Given the description of an element on the screen output the (x, y) to click on. 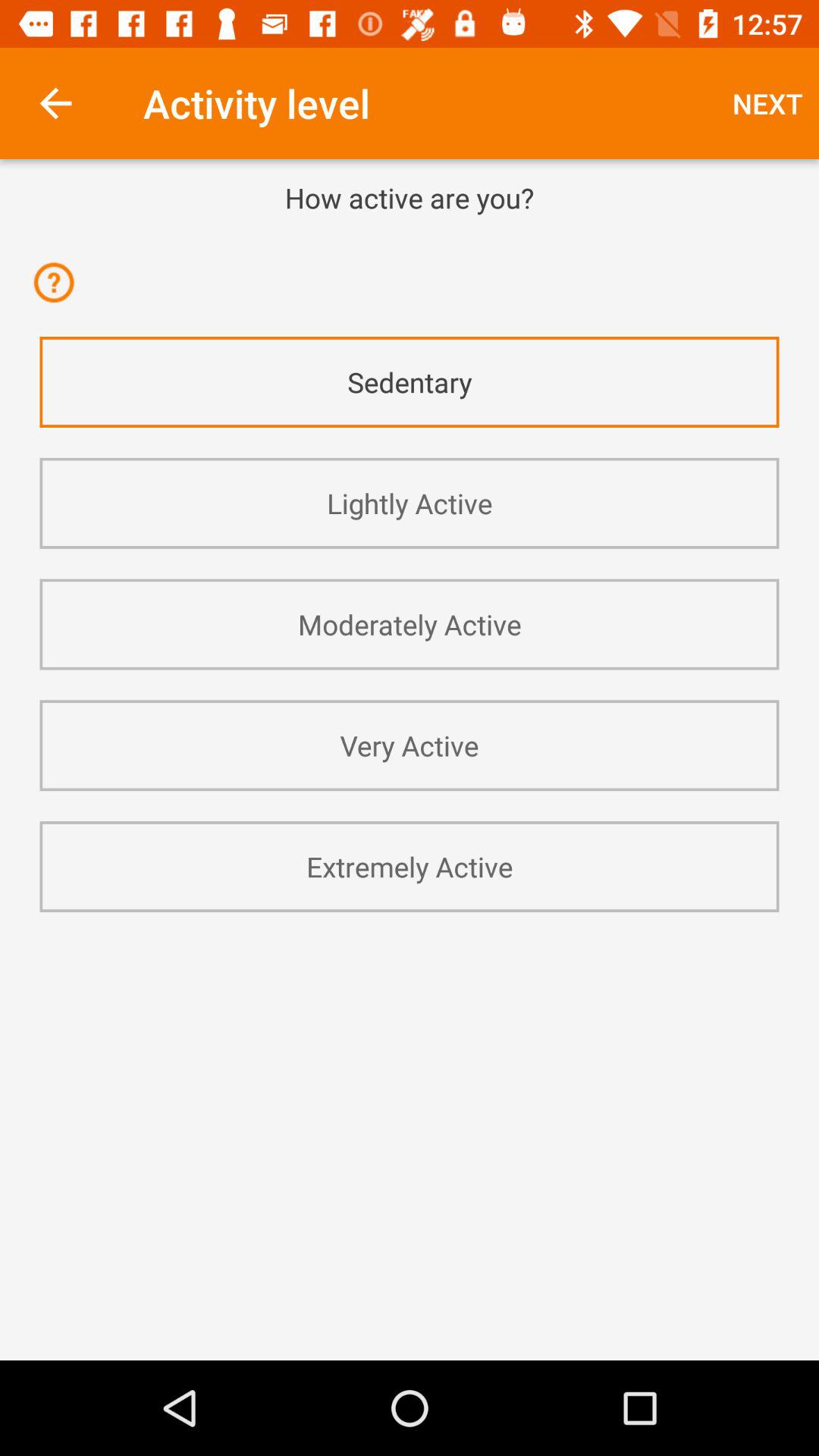
flip to the extremely active icon (409, 866)
